Given the description of an element on the screen output the (x, y) to click on. 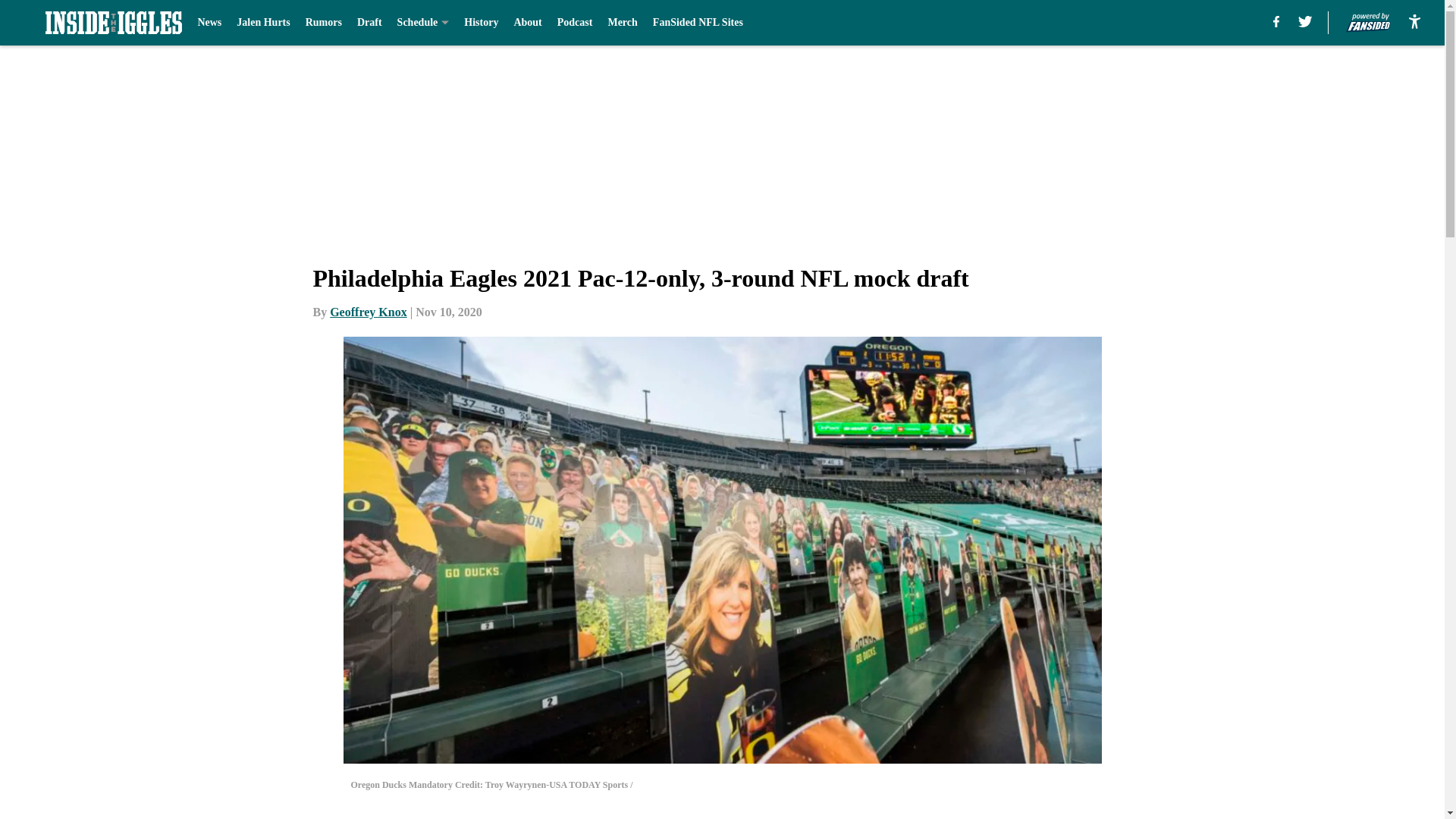
Jalen Hurts (262, 22)
Draft (368, 22)
FanSided NFL Sites (697, 22)
Rumors (323, 22)
Merch (622, 22)
Podcast (574, 22)
Geoffrey Knox (368, 311)
About (527, 22)
News (208, 22)
History (480, 22)
